Given the description of an element on the screen output the (x, y) to click on. 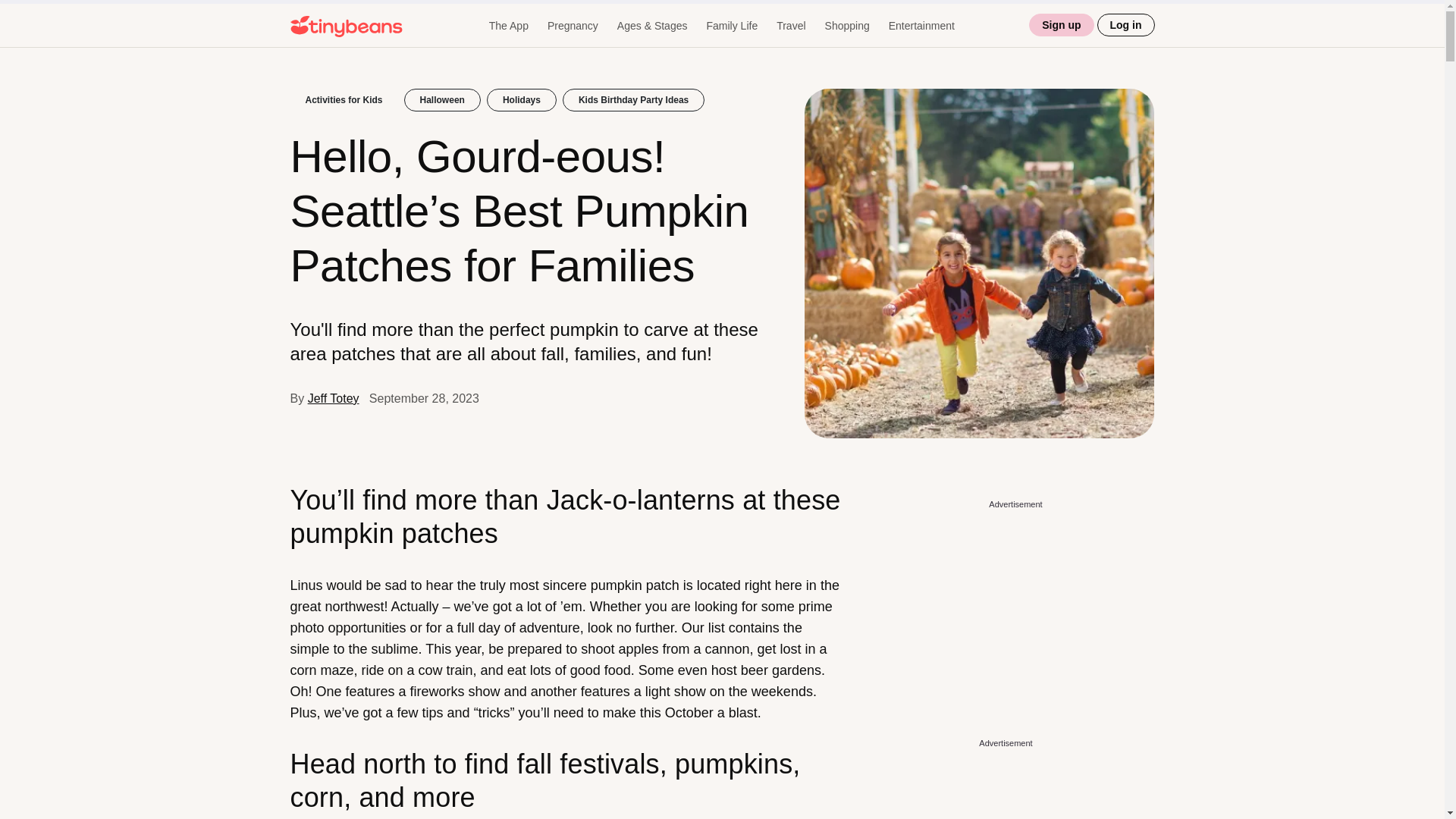
Pregnancy (572, 25)
Posts by Jeff Totey (333, 398)
The App (508, 25)
Family Life (731, 25)
